Given the description of an element on the screen output the (x, y) to click on. 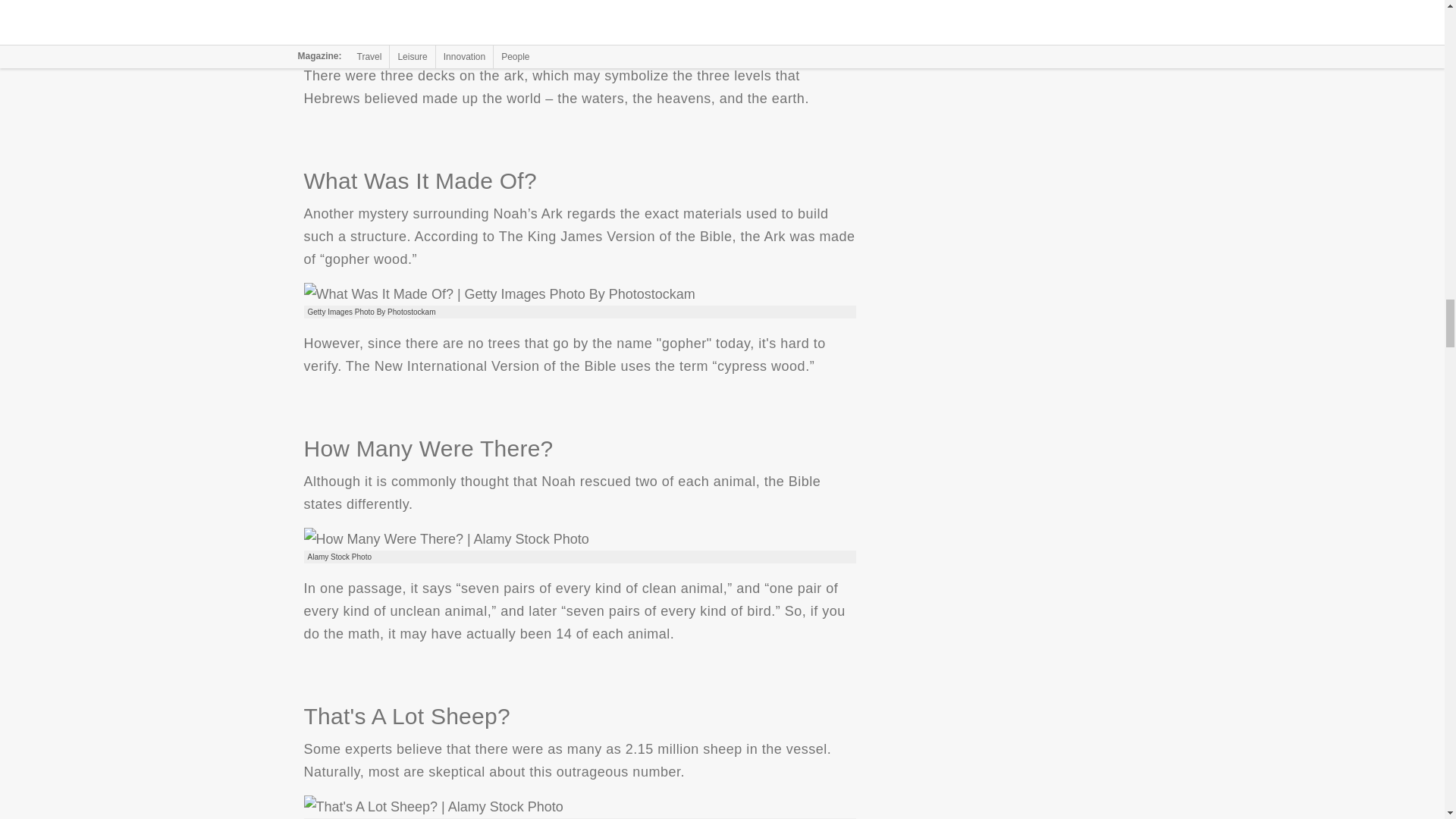
That's A Lot Sheep? (432, 806)
Symbolisms And Deeper Meaning (474, 26)
What Was It Made Of? (498, 293)
How Many Were There? (445, 538)
